Given the description of an element on the screen output the (x, y) to click on. 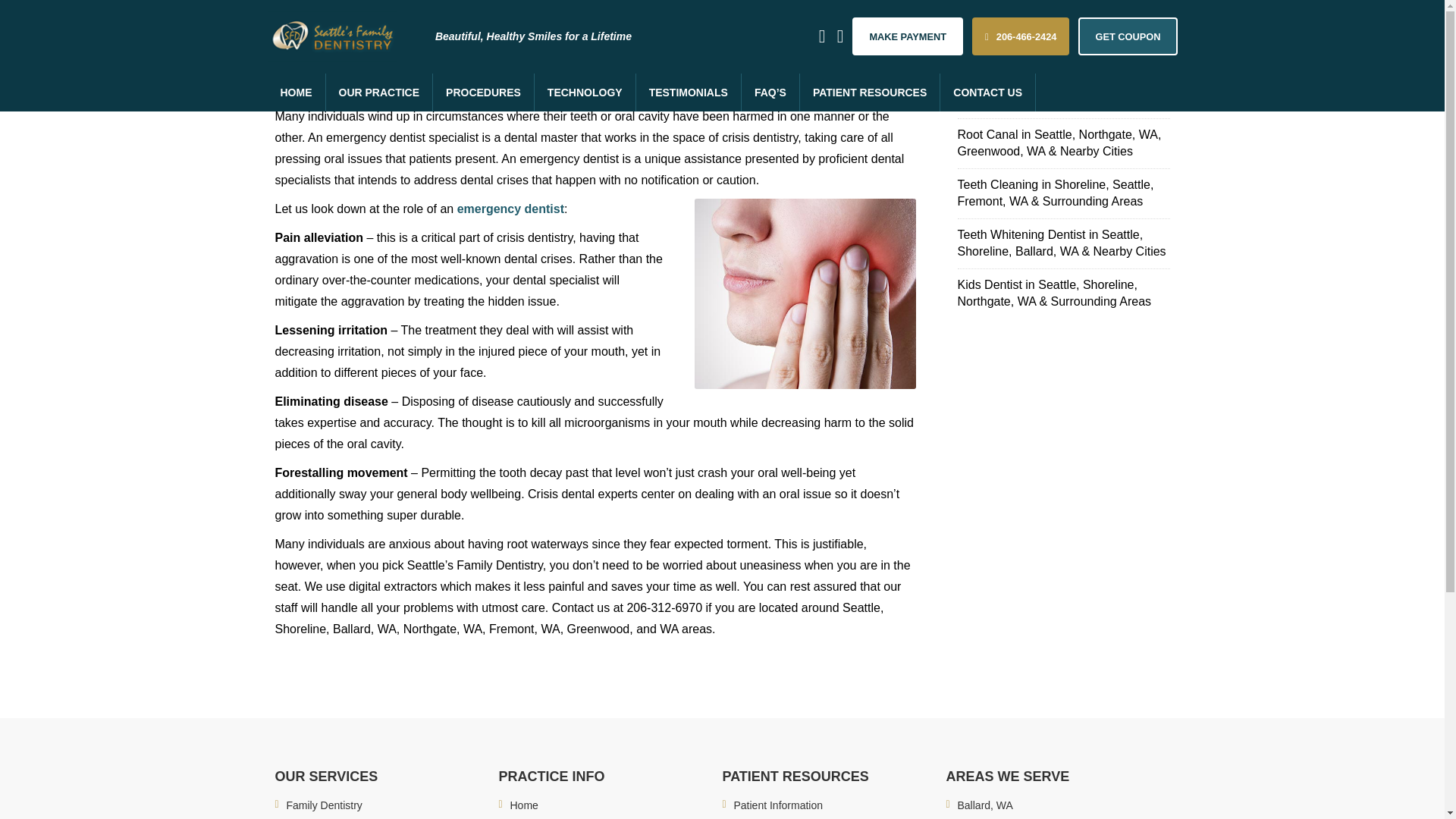
PATIENT RESOURCES (869, 92)
Family Dentistry (324, 805)
PROCEDURES (483, 92)
206-466-2424 (1020, 36)
emergency dentist (510, 208)
TESTIMONIALS (688, 92)
OUR PRACTICE (379, 92)
TECHNOLOGY (585, 92)
GET COUPON (1127, 36)
HOME (295, 92)
